Given the description of an element on the screen output the (x, y) to click on. 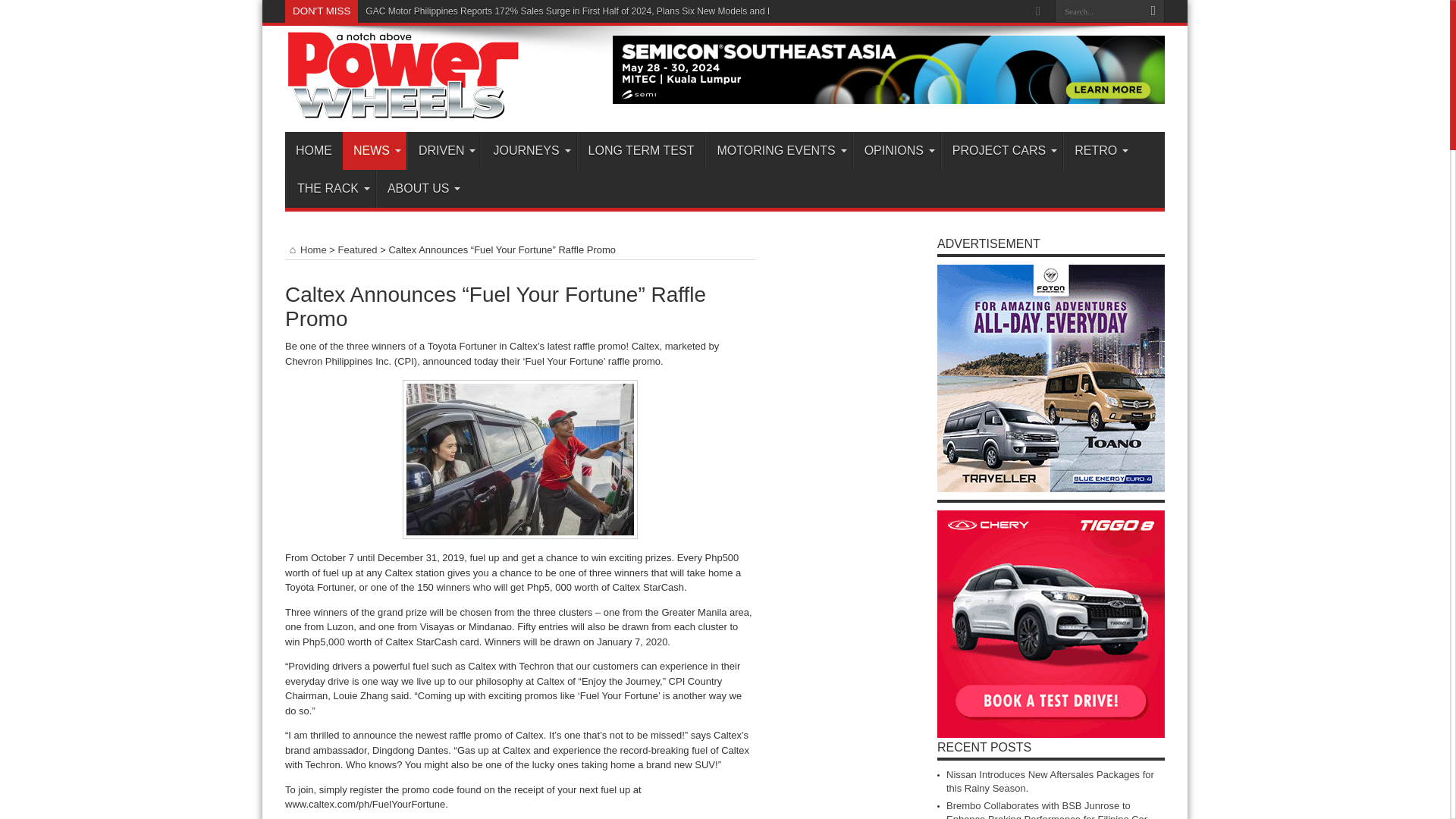
NEWS (374, 150)
Search... (1097, 11)
Power Wheels Magazine (403, 108)
HOME (313, 150)
JOURNEYS (528, 150)
DRIVEN (443, 150)
Search (1152, 11)
